Given the description of an element on the screen output the (x, y) to click on. 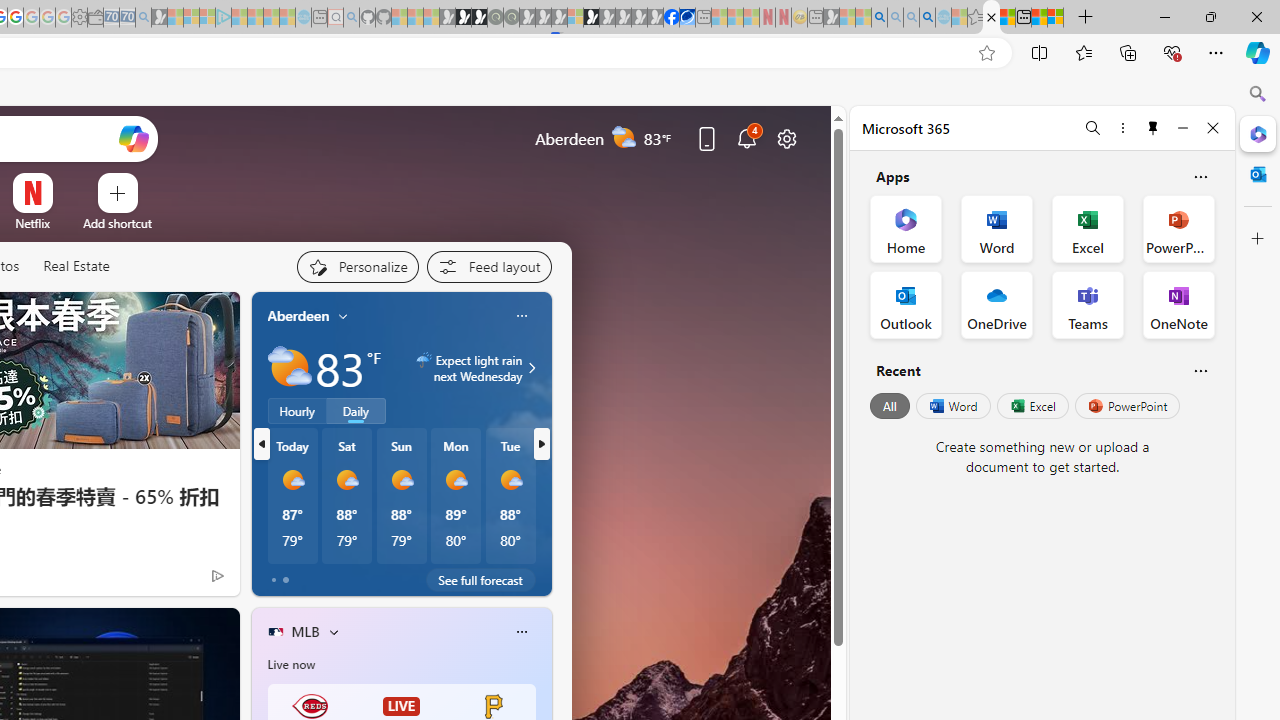
Unpin side pane (1153, 127)
Home | Sky Blue Bikes - Sky Blue Bikes - Sleeping (303, 17)
Mostly sunny (510, 479)
Close Customize pane (1258, 239)
Microsoft account | Privacy - Sleeping (207, 17)
